Given the description of an element on the screen output the (x, y) to click on. 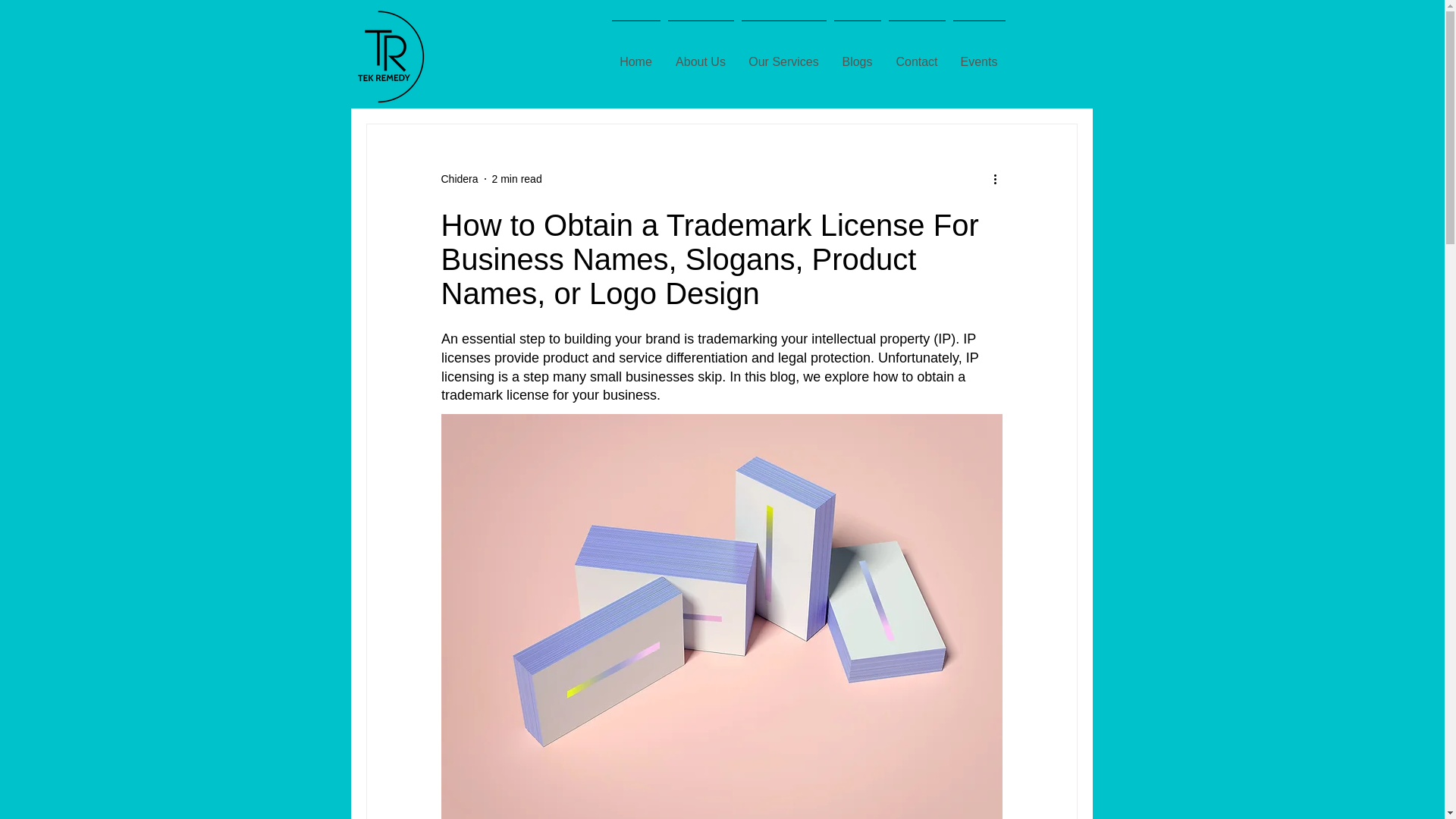
About Us (700, 55)
Contact (916, 55)
Chidera (460, 179)
Chidera (460, 179)
2 min read (516, 178)
Our Services (782, 55)
